Given the description of an element on the screen output the (x, y) to click on. 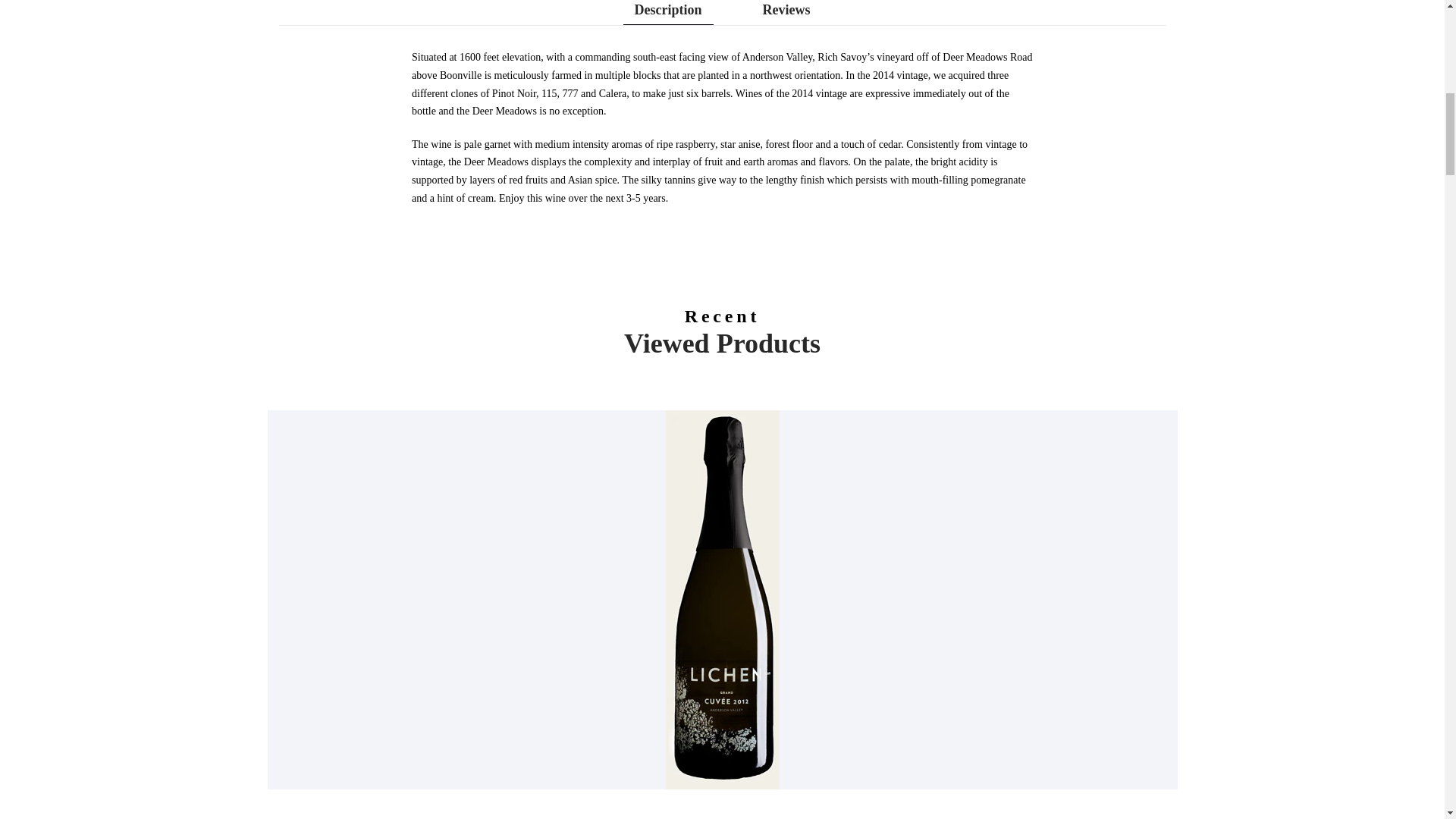
Description (667, 9)
2013 Lichen Grand Cuvee Anderson Valley Estate (721, 817)
Reviews (786, 9)
